Given the description of an element on the screen output the (x, y) to click on. 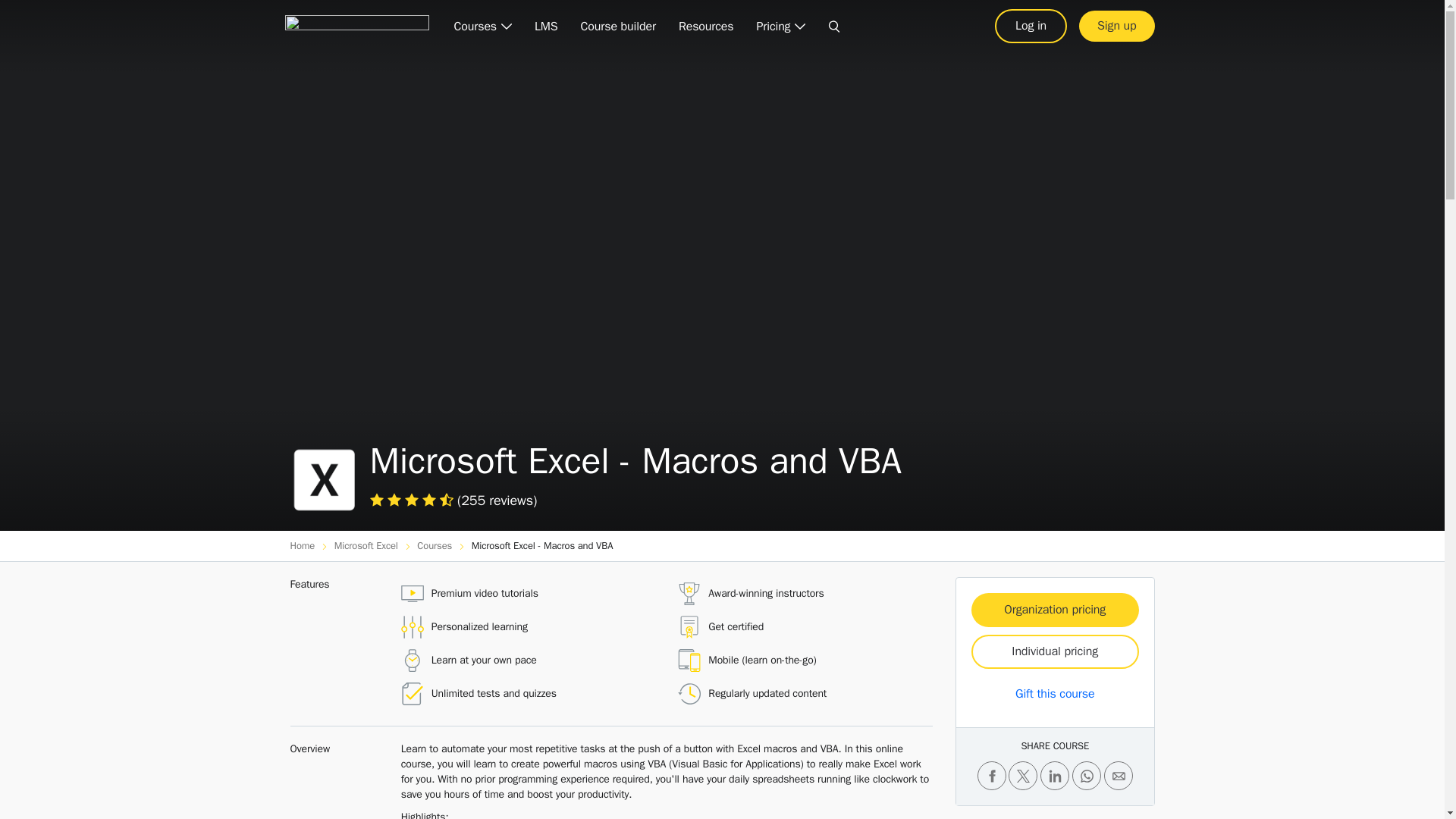
Microsoft Excel (367, 545)
Pricing (780, 26)
Courses (482, 26)
Share via email (1117, 775)
Share on Facebook (991, 775)
Share on LinkedIn (1054, 775)
Testimonials (413, 500)
Log in (1030, 26)
Resources (705, 26)
Course builder (617, 26)
